Given the description of an element on the screen output the (x, y) to click on. 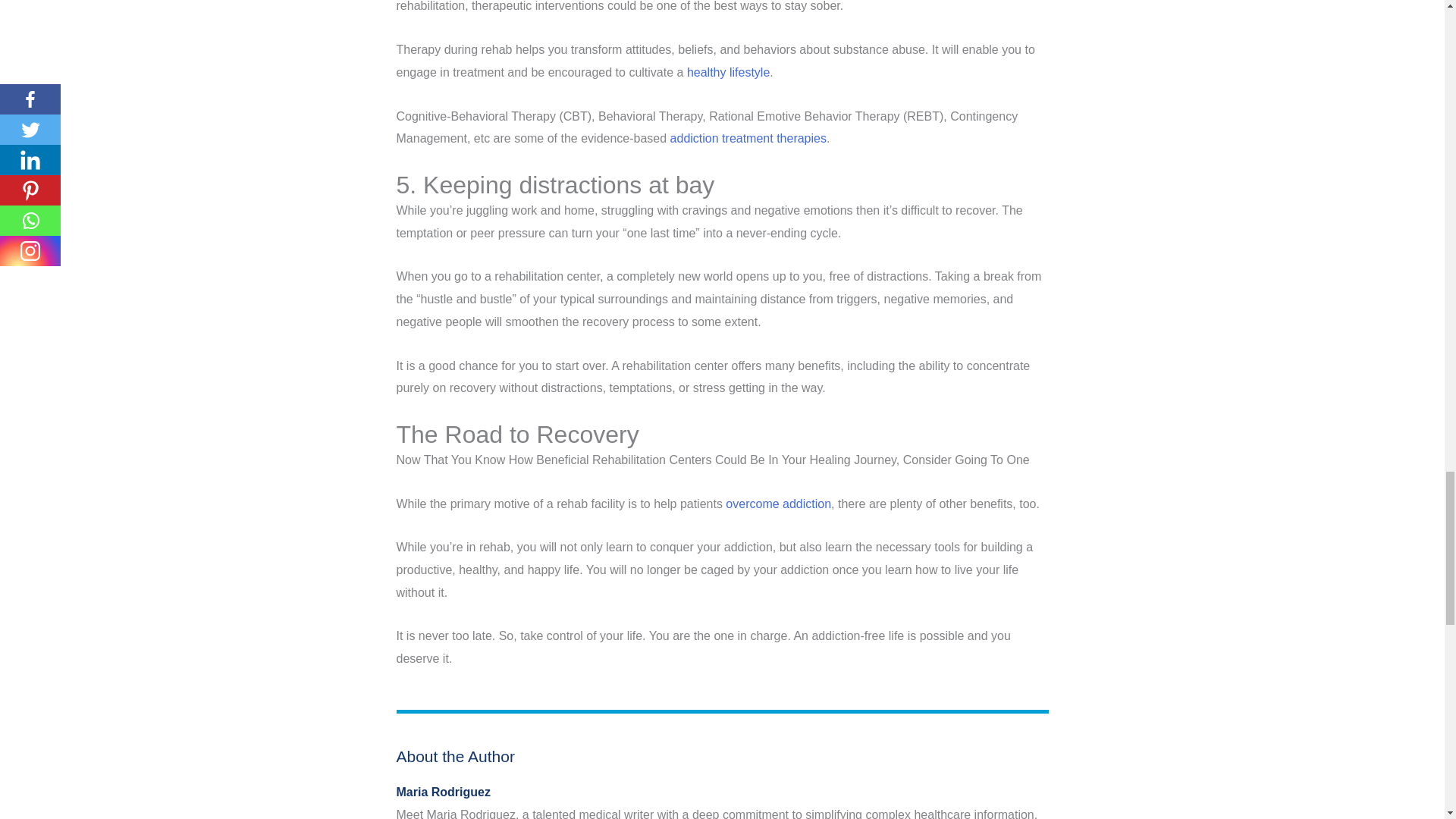
overcome addiction (778, 503)
addiction treatment therapies (748, 137)
healthy lifestyle (728, 72)
